Given the description of an element on the screen output the (x, y) to click on. 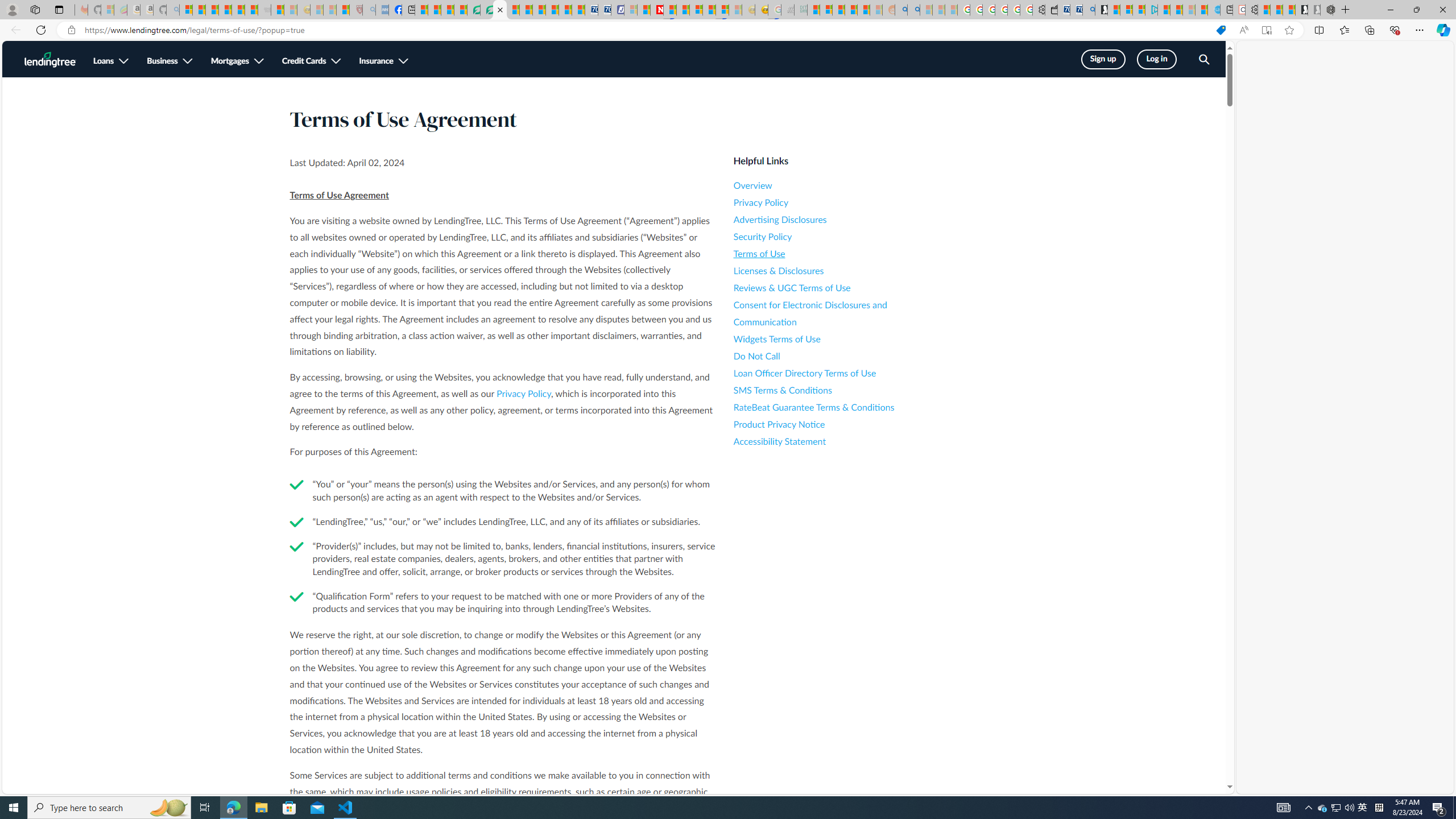
Product Privacy Notice (836, 424)
Privacy Policy (836, 202)
